Given the description of an element on the screen output the (x, y) to click on. 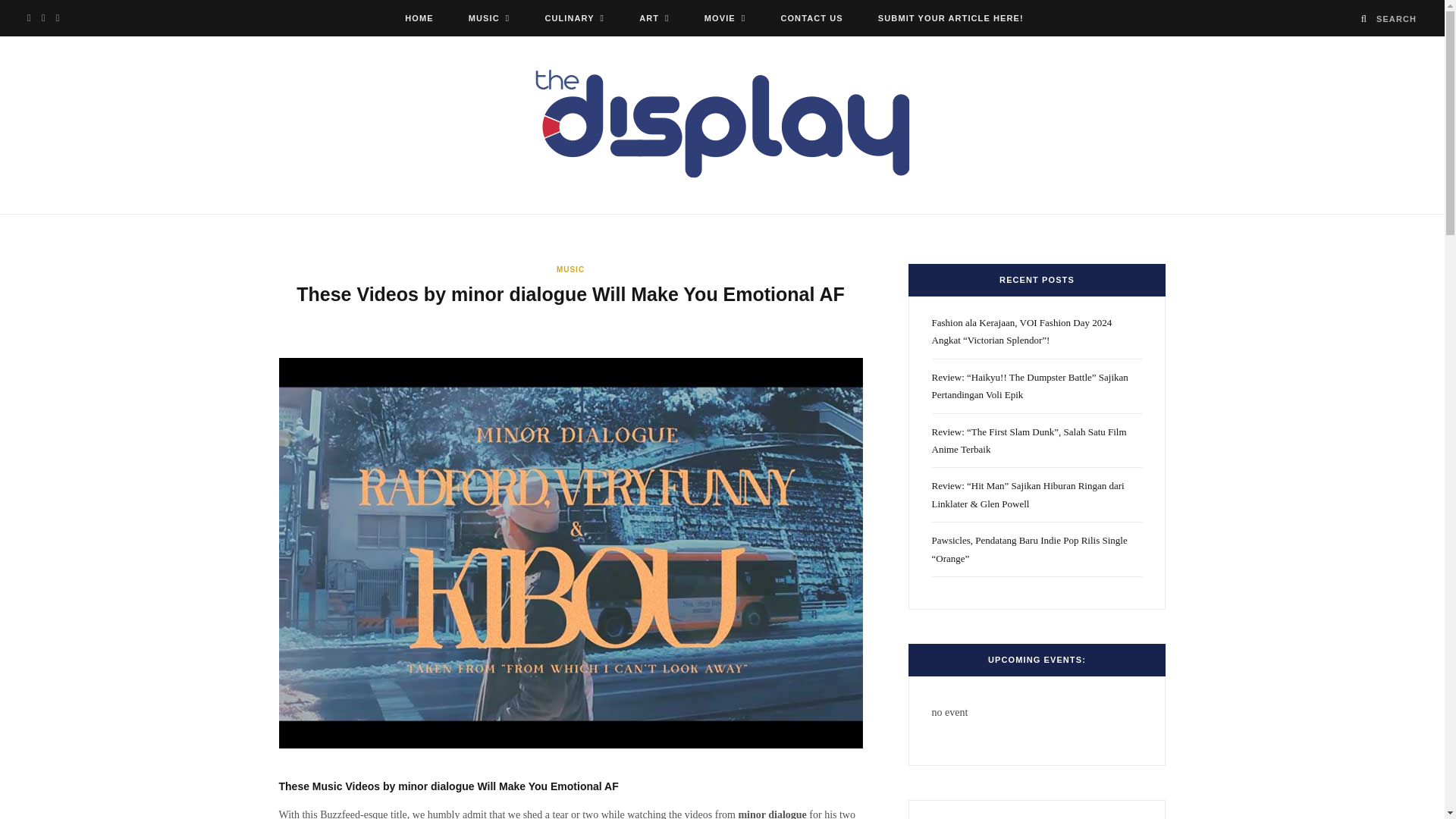
MUSIC (488, 18)
CULINARY (574, 18)
HOME (418, 18)
